Given the description of an element on the screen output the (x, y) to click on. 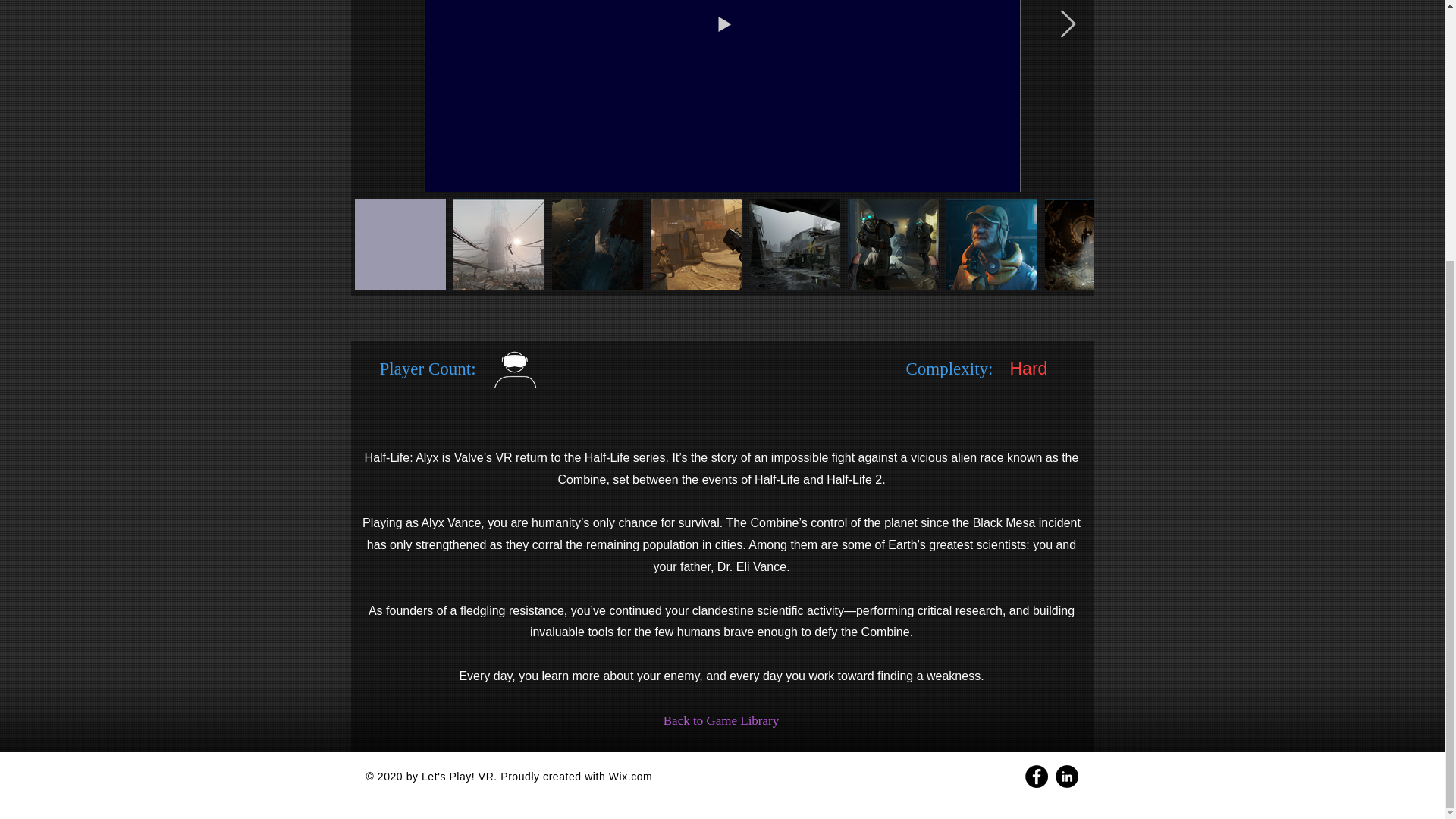
SinglePlayerIcons.png (675, 380)
Back to Game Library (721, 720)
Wix.com (630, 776)
